Given the description of an element on the screen output the (x, y) to click on. 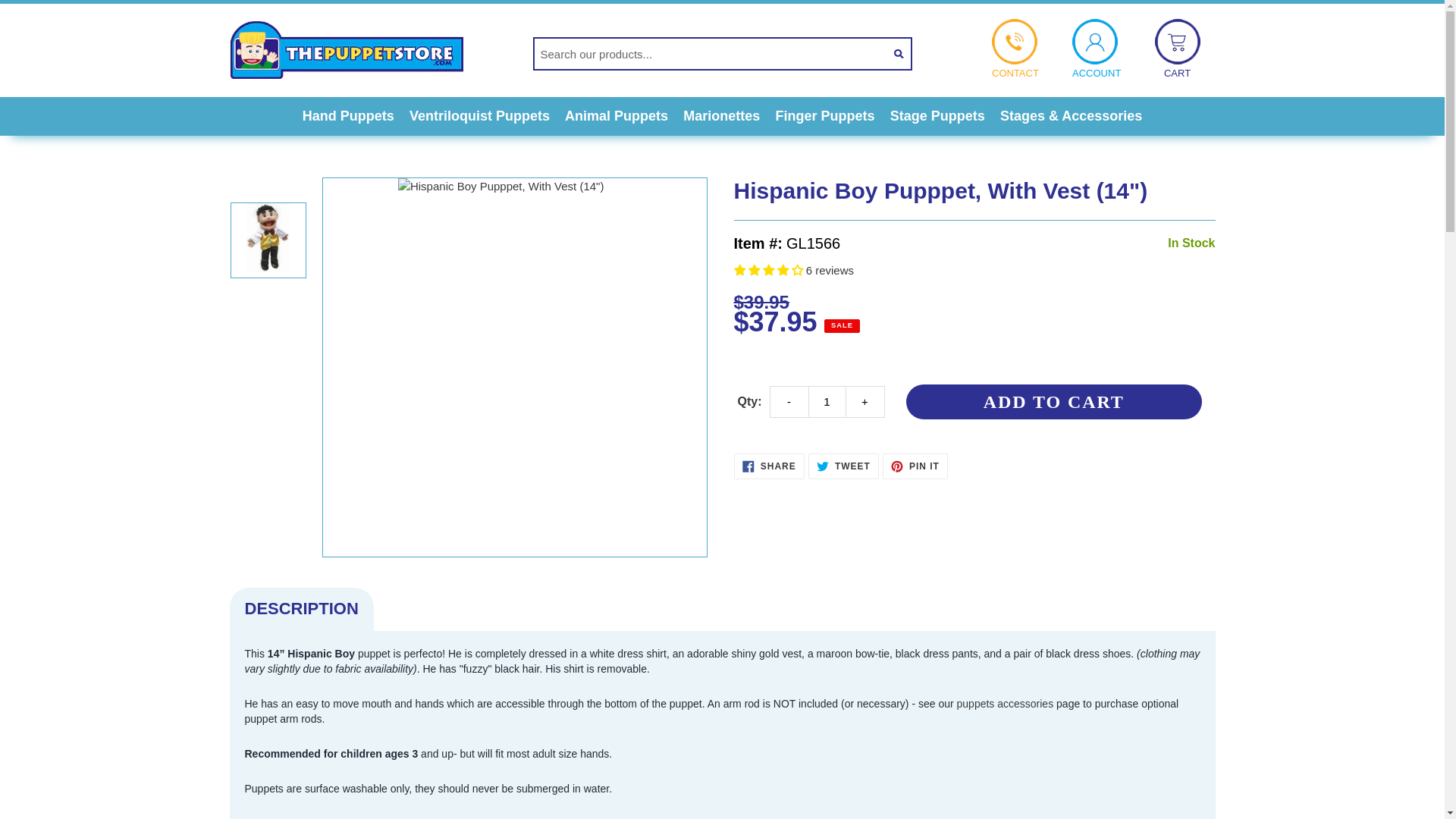
- (789, 401)
Ventriloquist Puppets (479, 114)
Hand Puppets (348, 114)
1 (826, 401)
